Given the description of an element on the screen output the (x, y) to click on. 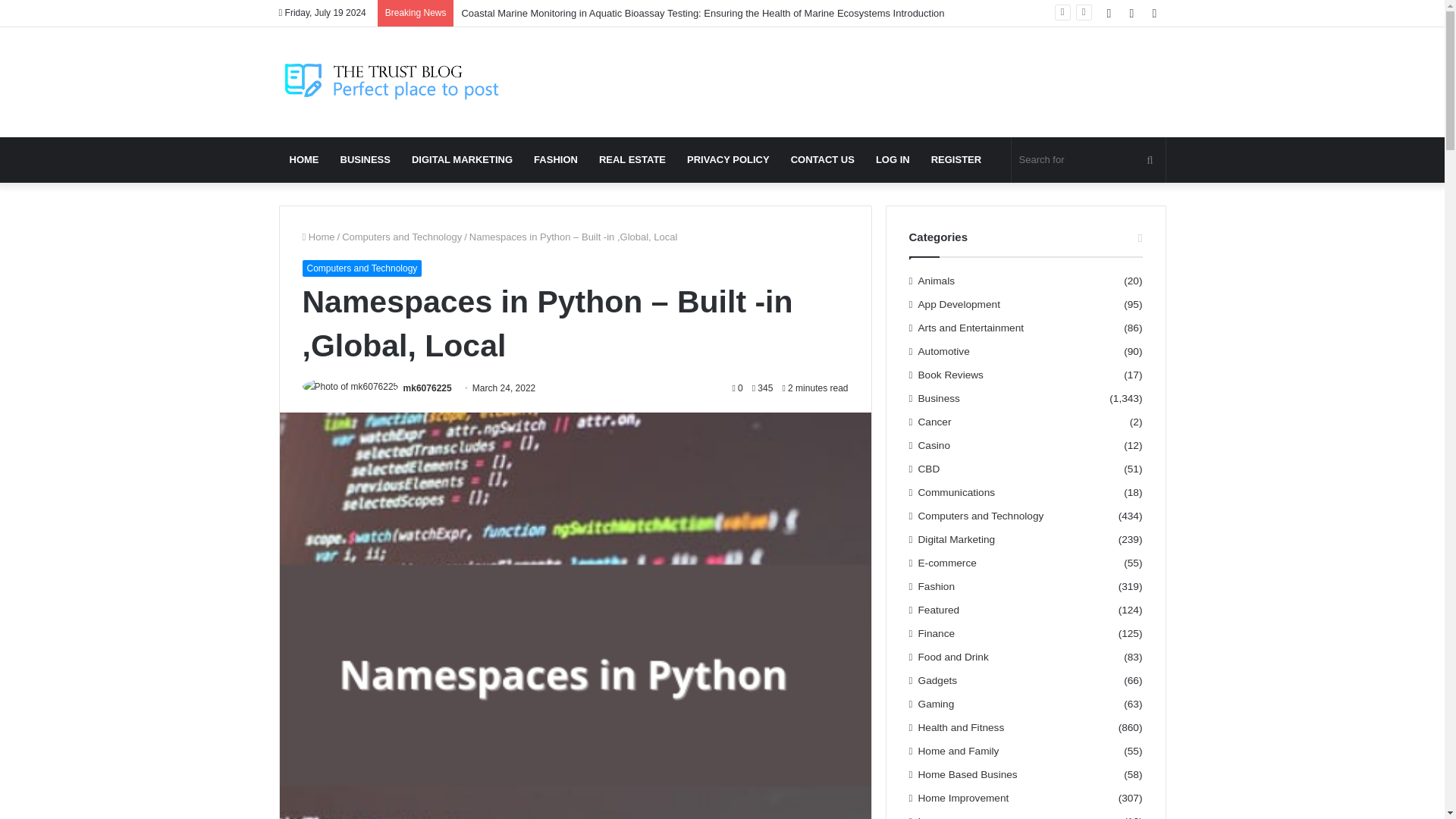
The Trust Blog (392, 82)
DIGITAL MARKETING (461, 159)
FASHION (555, 159)
PRIVACY POLICY (728, 159)
Search for (1088, 159)
mk6076225 (427, 388)
Home (317, 236)
REGISTER (955, 159)
LOG IN (892, 159)
Computers and Technology (401, 236)
BUSINESS (364, 159)
CONTACT US (822, 159)
mk6076225 (427, 388)
HOME (304, 159)
